Given the description of an element on the screen output the (x, y) to click on. 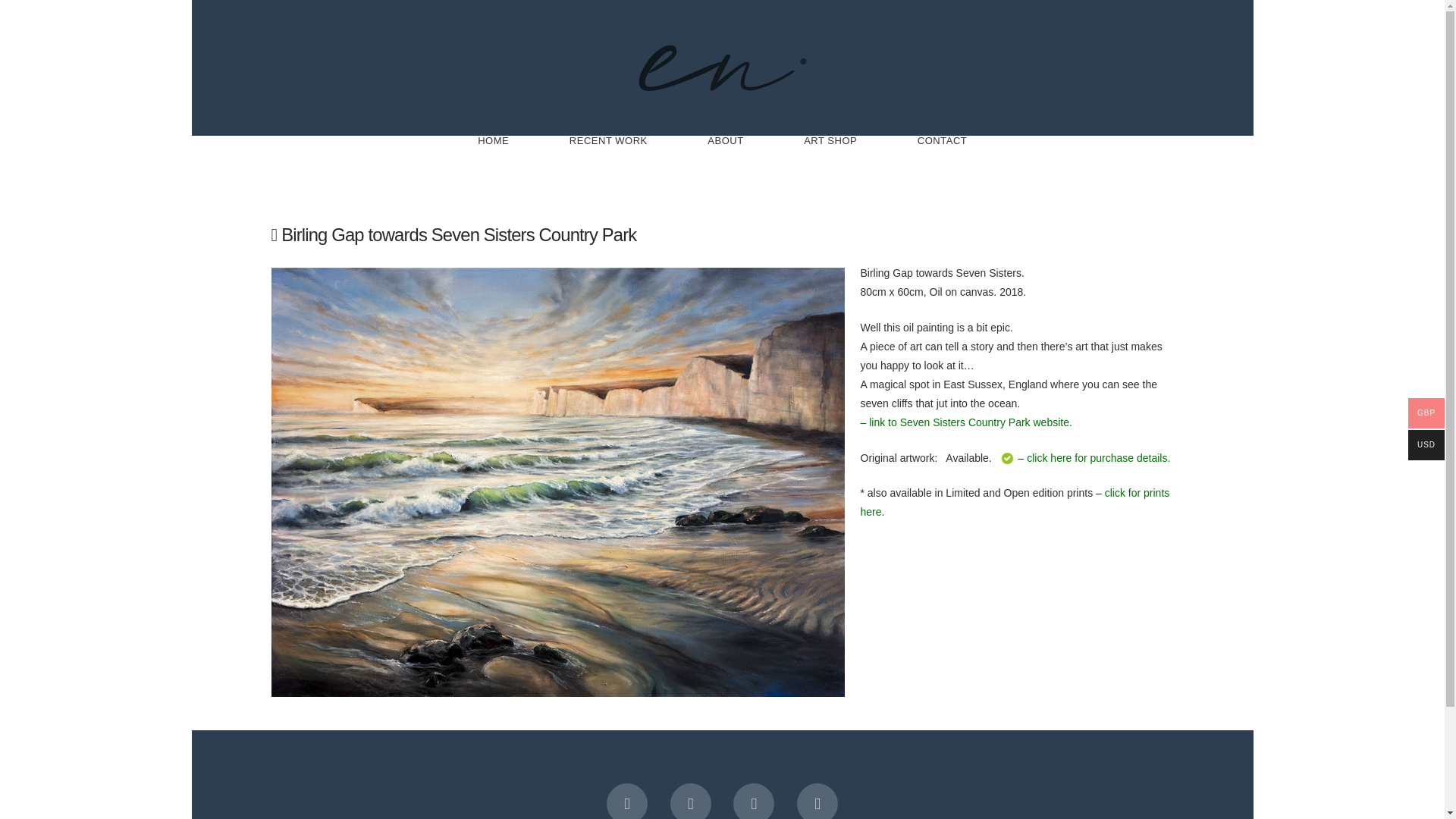
ABOUT (725, 165)
HOME (492, 165)
click here for purchase details. (1098, 458)
RECENT WORK (607, 165)
Instagram (753, 800)
click for prints here (1014, 501)
Facebook (627, 800)
Pinterest (817, 800)
ART SHOP (829, 165)
CONTACT (941, 165)
